Given the description of an element on the screen output the (x, y) to click on. 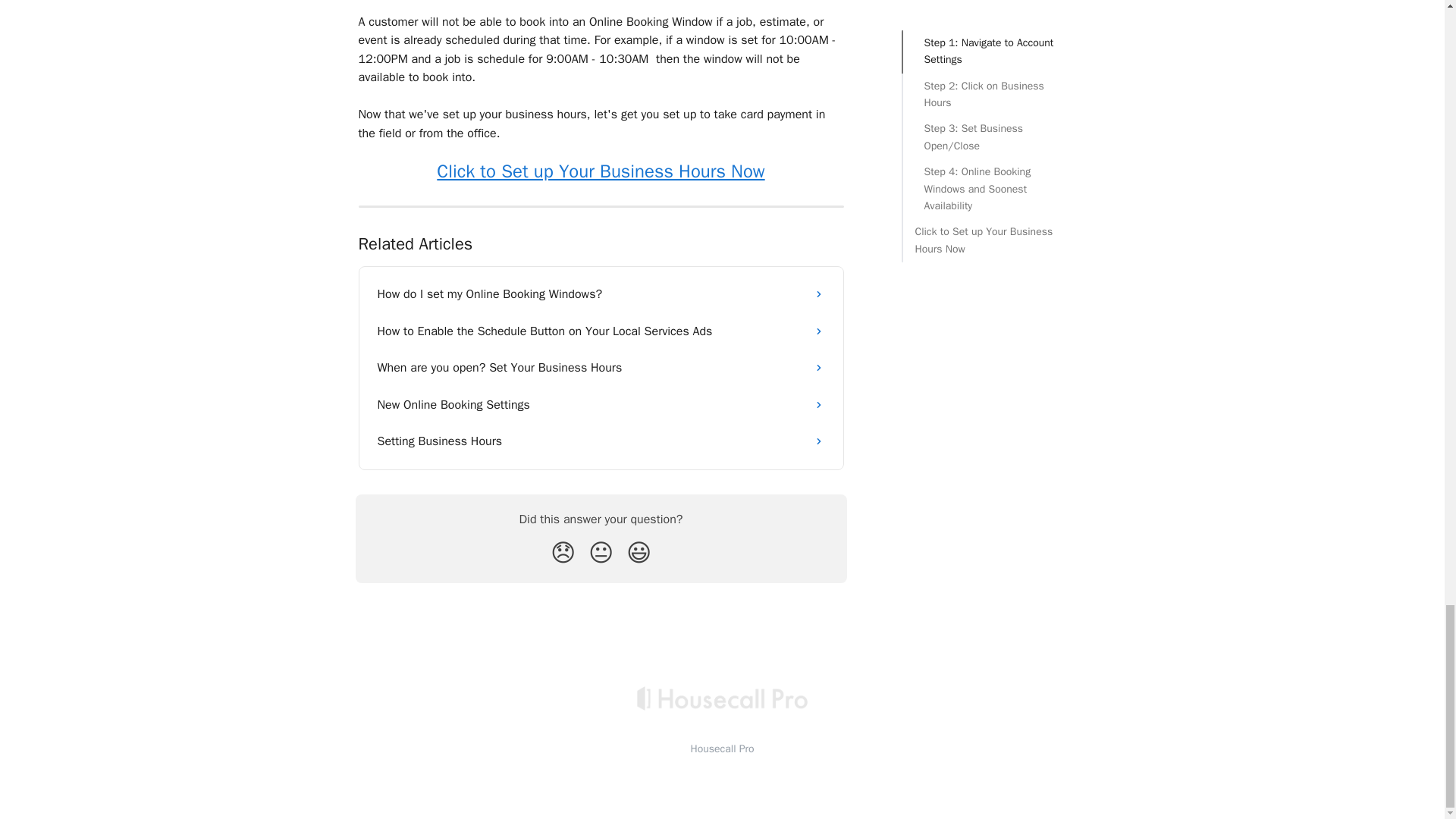
Setting Business Hours (601, 441)
How do I set my Online Booking Windows? (601, 294)
How to Enable the Schedule Button on Your Local Services Ads (601, 330)
When are you open? Set Your Business Hours (601, 367)
Housecall Pro (722, 748)
New Online Booking Settings (601, 404)
Click to Set up Your Business Hours Now (600, 170)
